Given the description of an element on the screen output the (x, y) to click on. 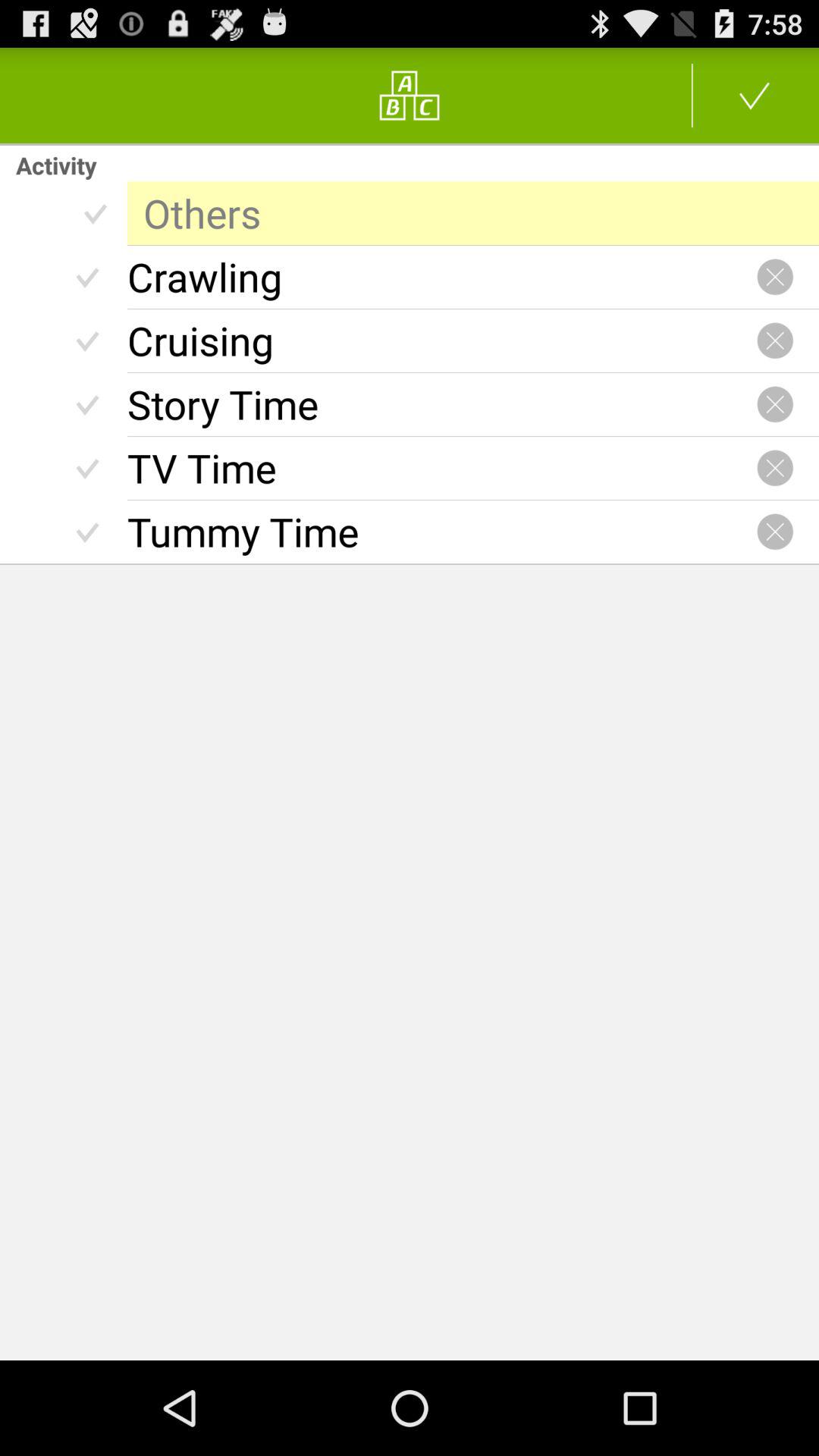
clear activity (775, 467)
